Given the description of an element on the screen output the (x, y) to click on. 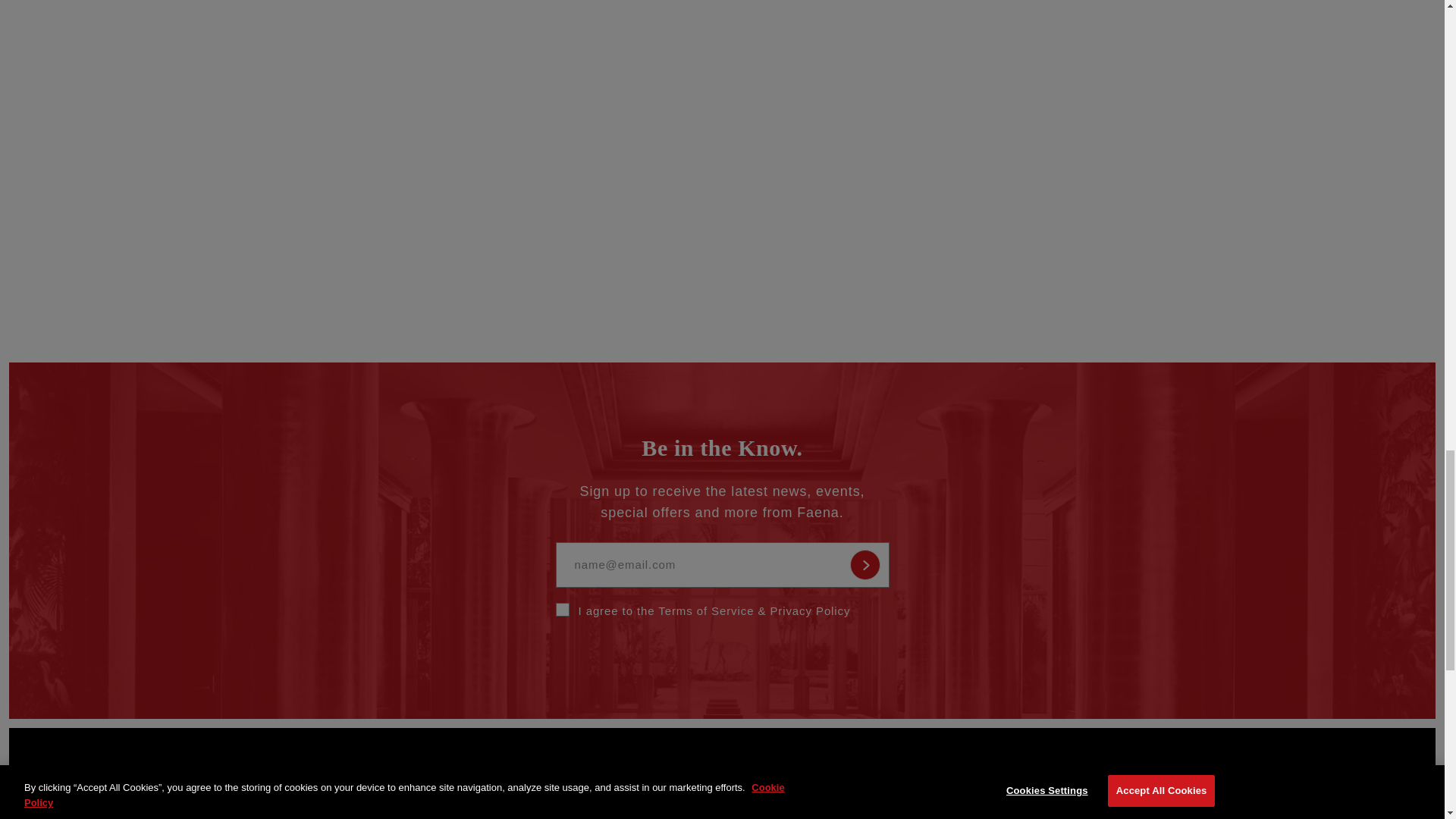
1 (561, 609)
Submit (863, 564)
next (1218, 2)
